Given the description of an element on the screen output the (x, y) to click on. 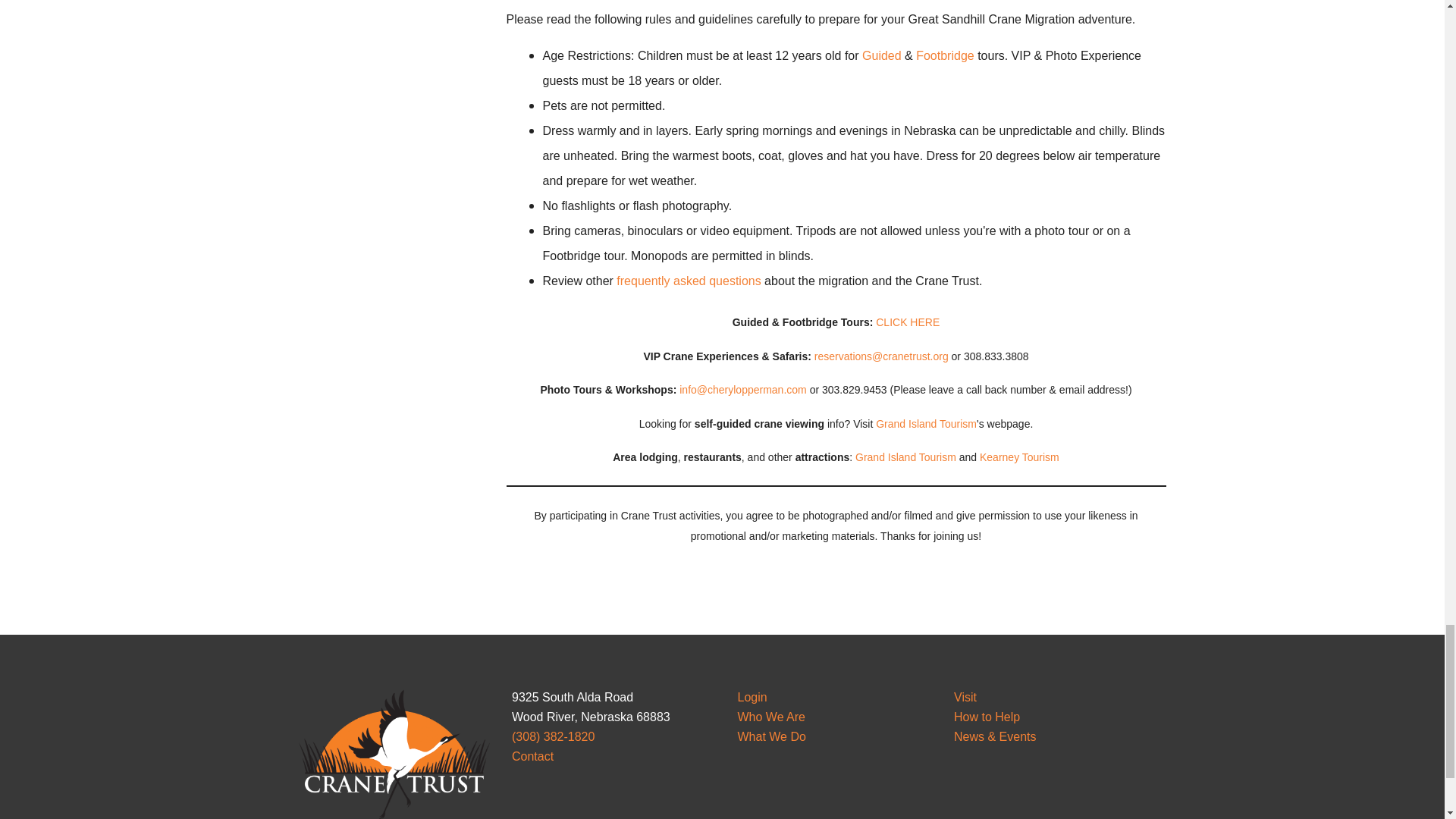
logo (391, 753)
